Given the description of an element on the screen output the (x, y) to click on. 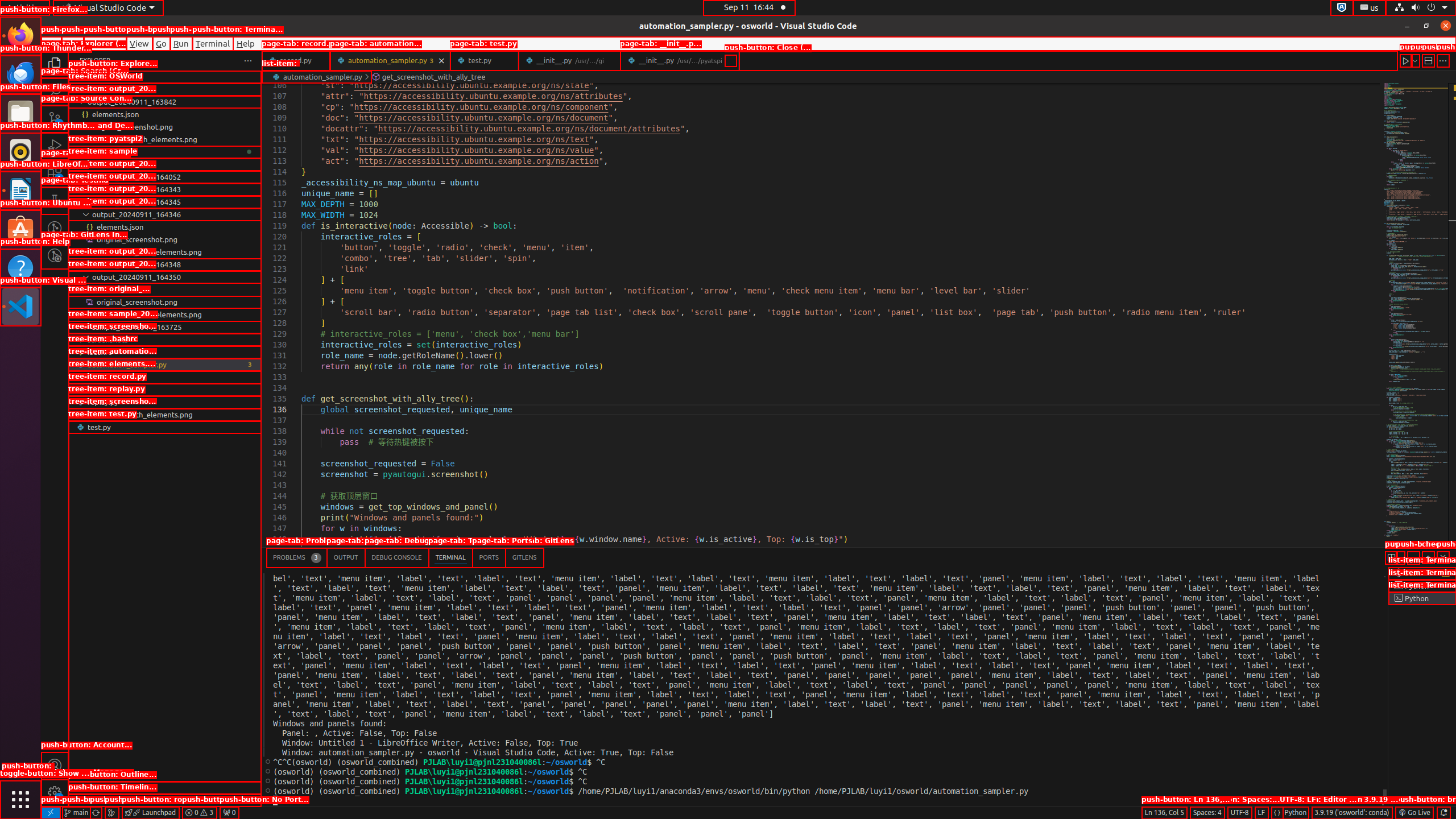
Close (Ctrl+W) Element type: push-button (730, 60)
Output (Ctrl+K Ctrl+H) Element type: page-tab (345, 557)
Edit Element type: push-button (72, 43)
